Given the description of an element on the screen output the (x, y) to click on. 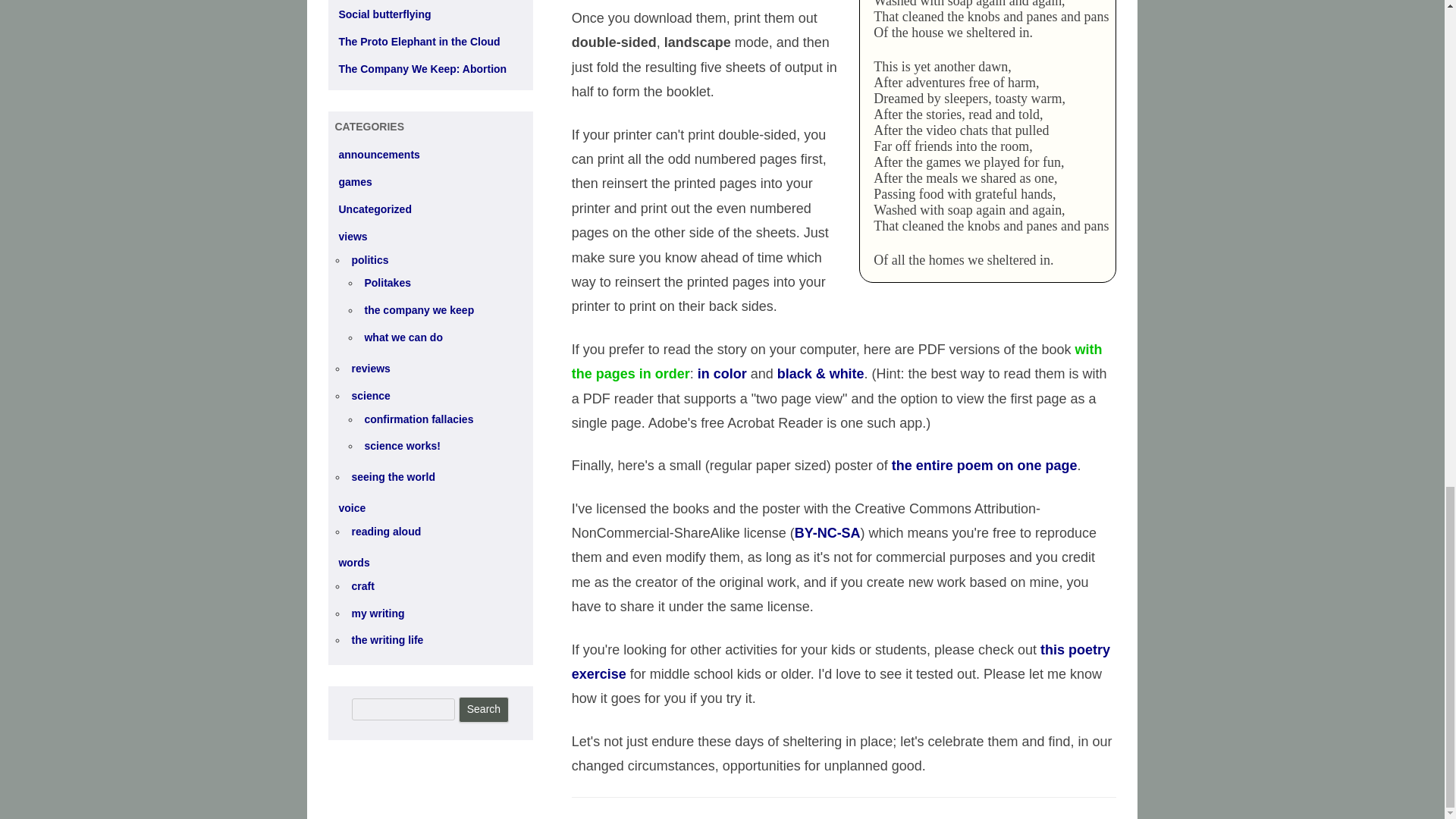
Search (483, 709)
